Given the description of an element on the screen output the (x, y) to click on. 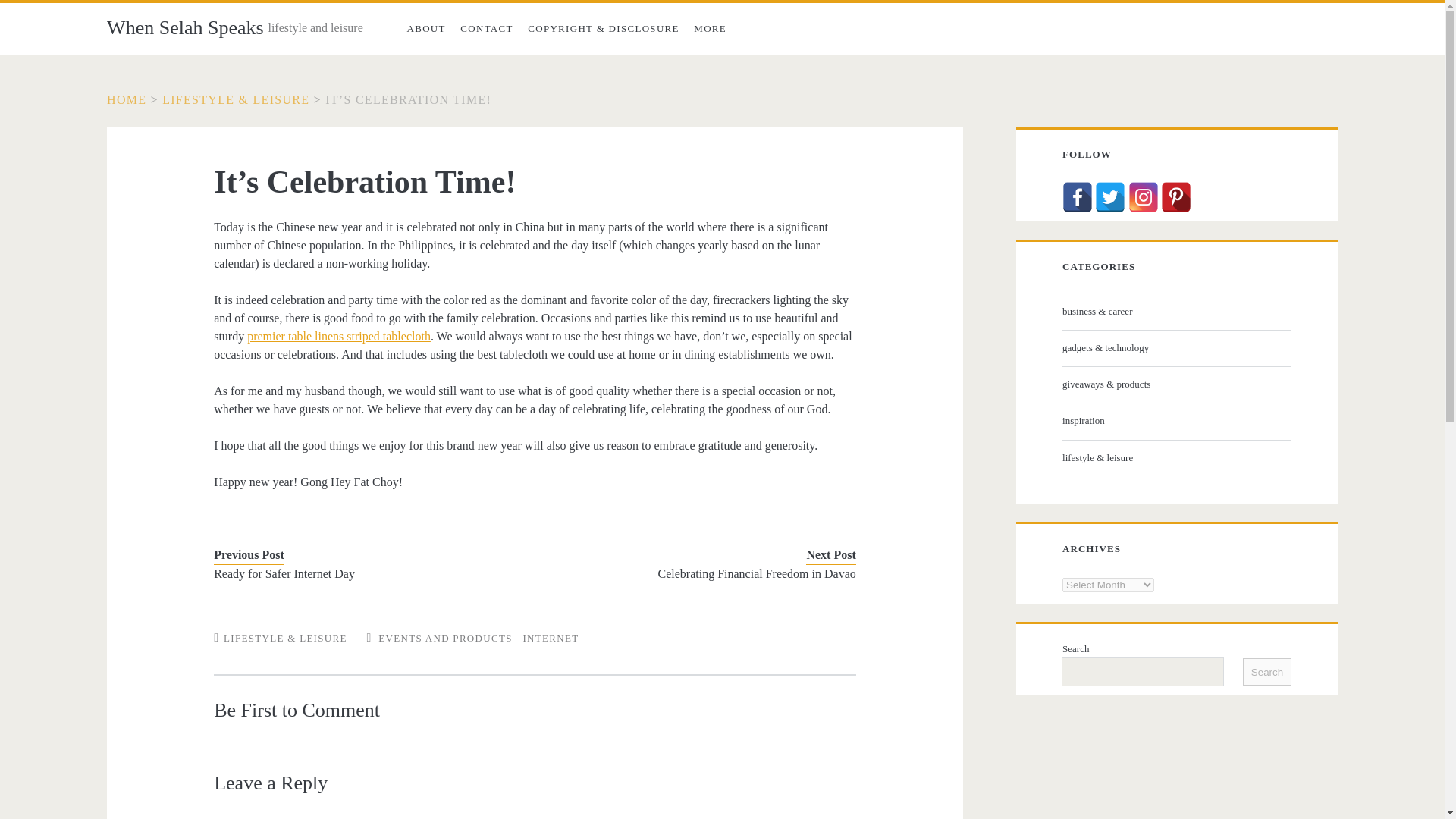
Home (126, 99)
MORE (710, 28)
Ready for Safer Internet Day (361, 574)
HOME (126, 99)
CONTACT (486, 28)
View all posts tagged events and products (445, 637)
Celebrating Financial Freedom in Davao (708, 574)
ABOUT (425, 28)
View all posts tagged internet (550, 637)
inspiration (1174, 420)
When Selah Speaks (184, 27)
Pinterest (1175, 196)
Twitter (1109, 196)
INTERNET (550, 637)
EVENTS AND PRODUCTS (445, 637)
